Given the description of an element on the screen output the (x, y) to click on. 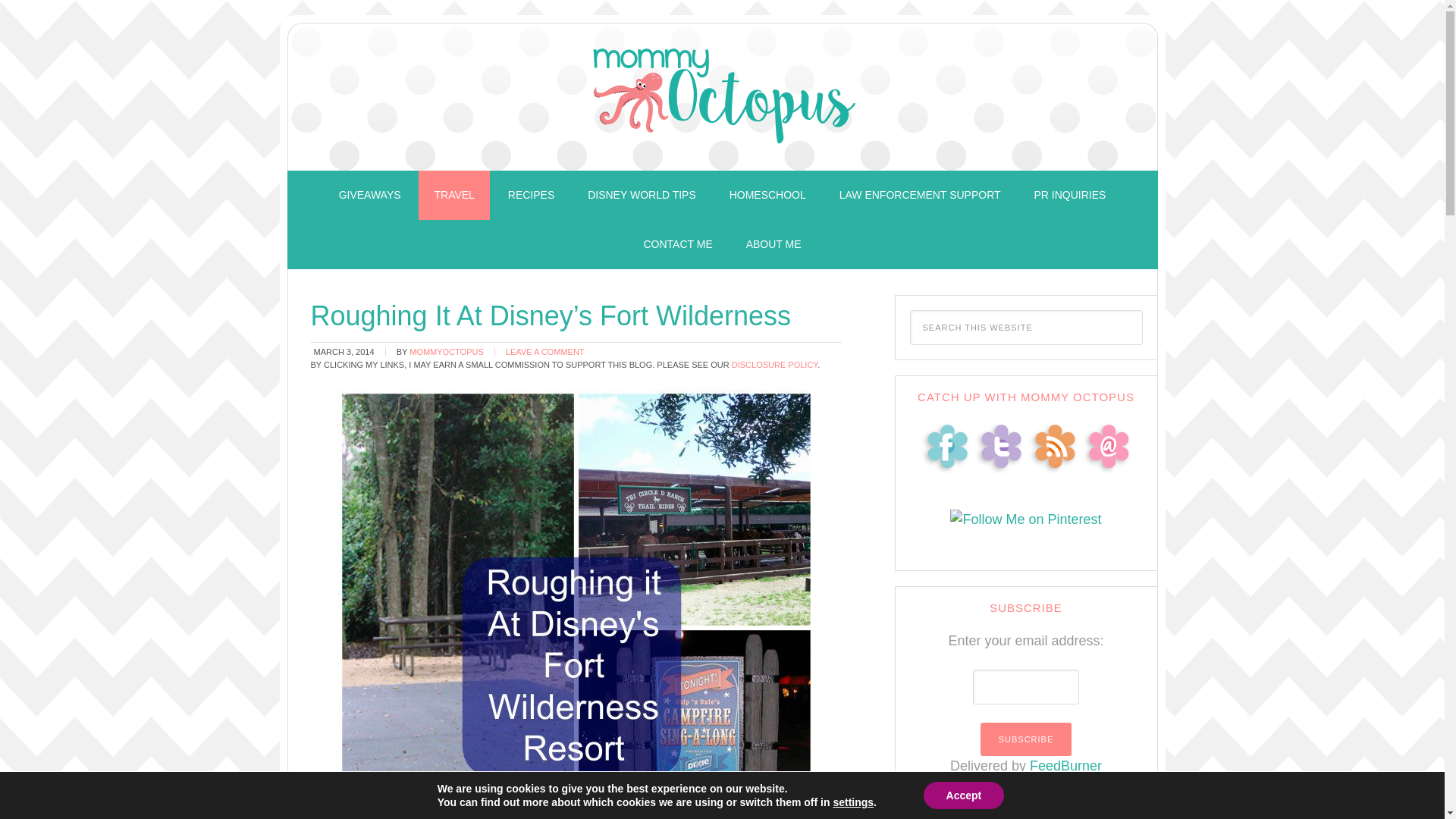
ABOUT ME (773, 244)
LAW ENFORCEMENT SUPPORT (920, 195)
GIVEAWAYS (369, 195)
MOMMYOCTOPUS (446, 351)
CONTACT ME (676, 244)
HOMESCHOOL (767, 195)
TRAVEL (454, 195)
Subscribe (1025, 738)
DISNEY WORLD TIPS (641, 195)
RECIPES (531, 195)
PR INQUIRIES (1069, 195)
LEAVE A COMMENT (545, 351)
